Given the description of an element on the screen output the (x, y) to click on. 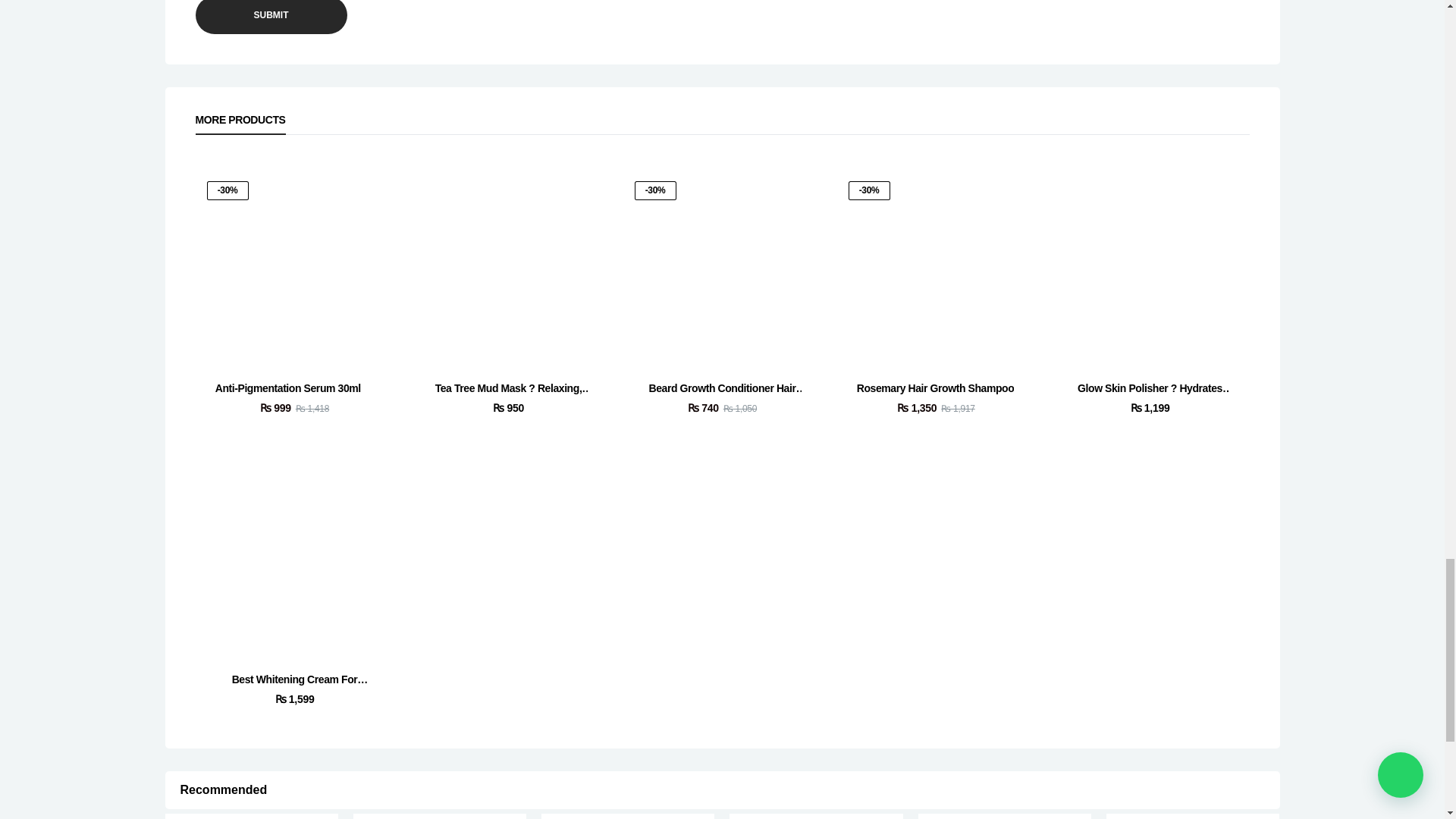
Submit (271, 17)
